Given the description of an element on the screen output the (x, y) to click on. 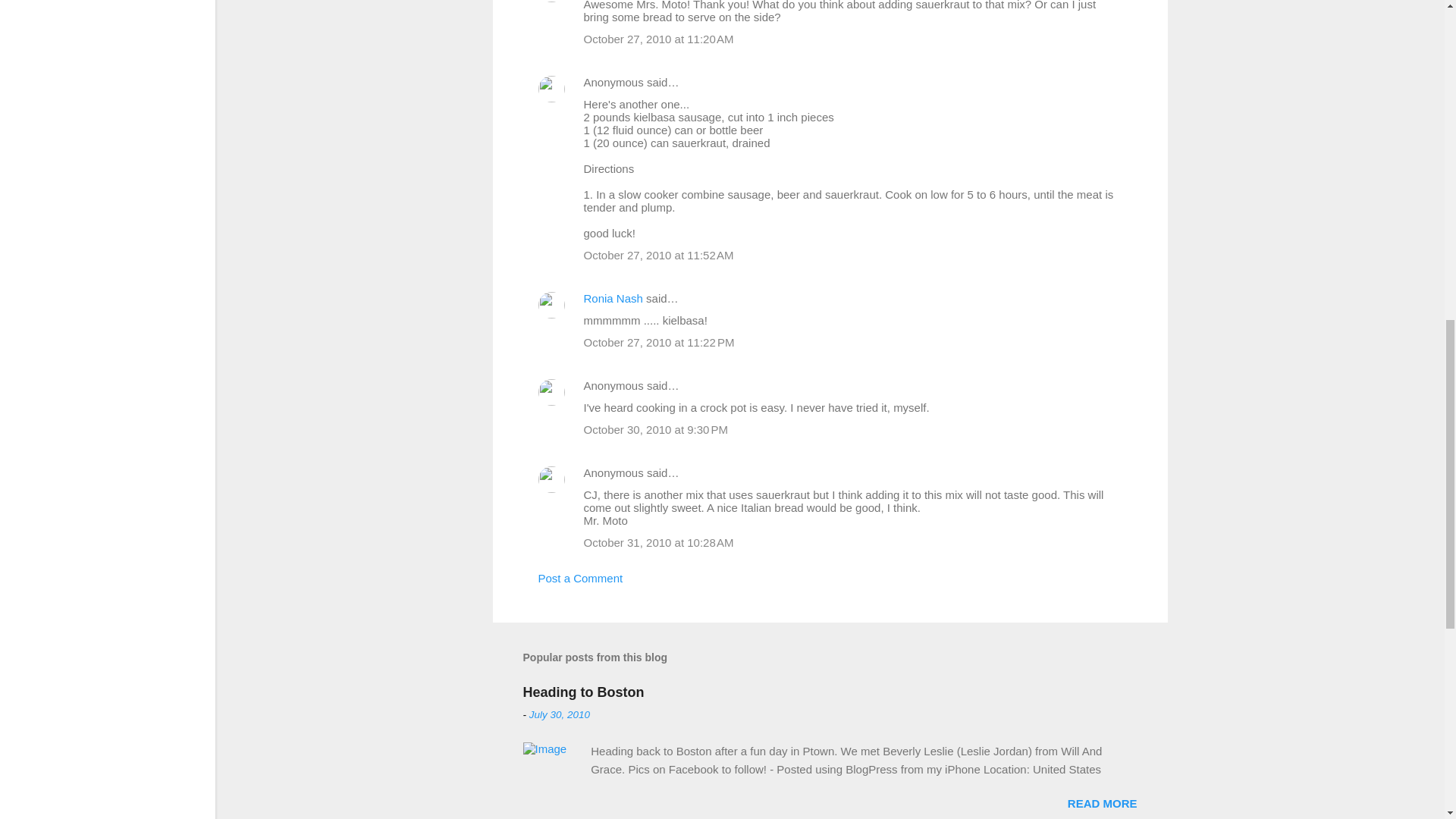
READ MORE (1102, 802)
Heading to Boston (583, 692)
Post a Comment (580, 577)
July 30, 2010 (559, 714)
Ronia Nash (613, 297)
